Given the description of an element on the screen output the (x, y) to click on. 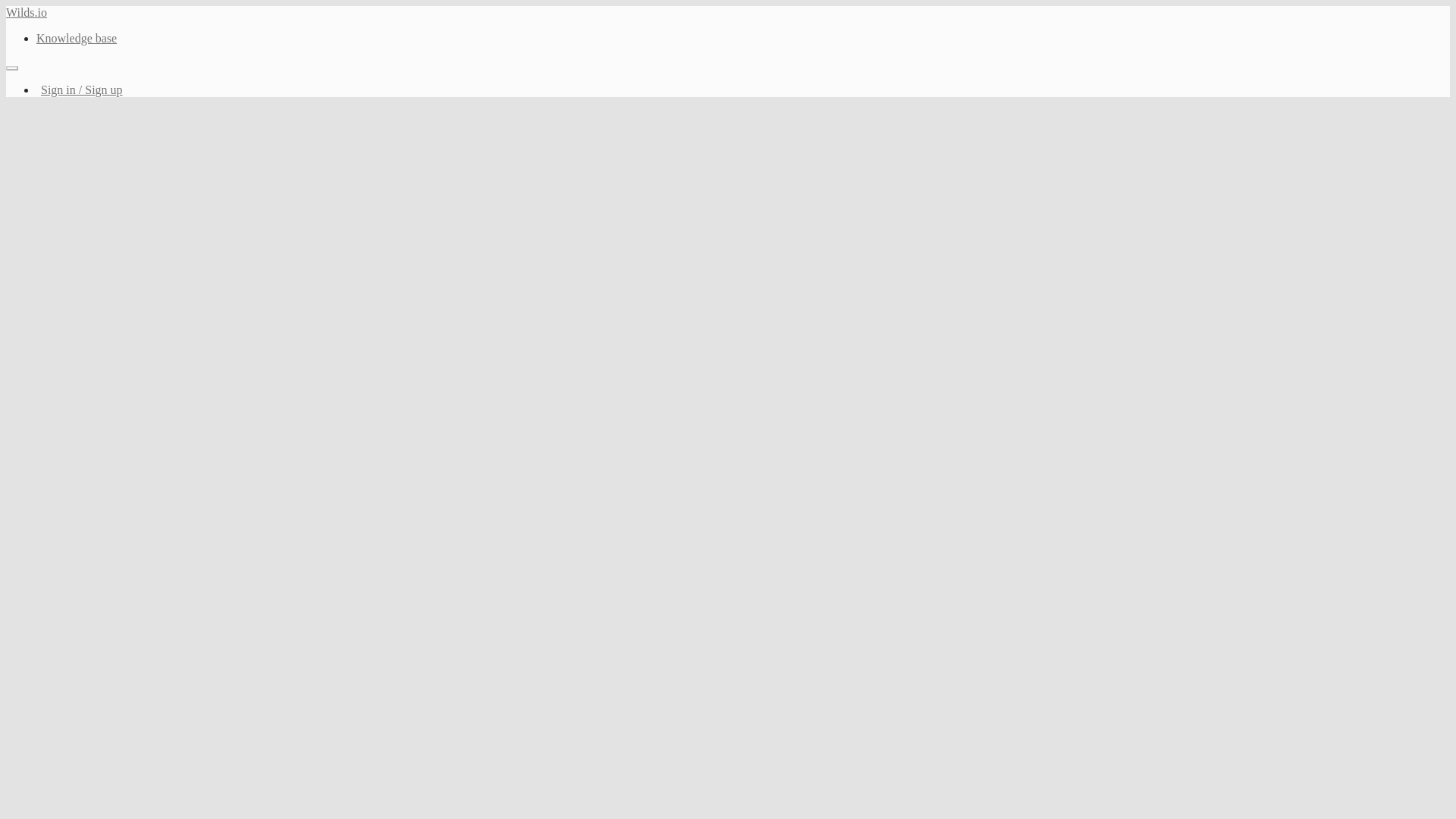
Wilds.io (25, 11)
Knowledge base (76, 38)
